Given the description of an element on the screen output the (x, y) to click on. 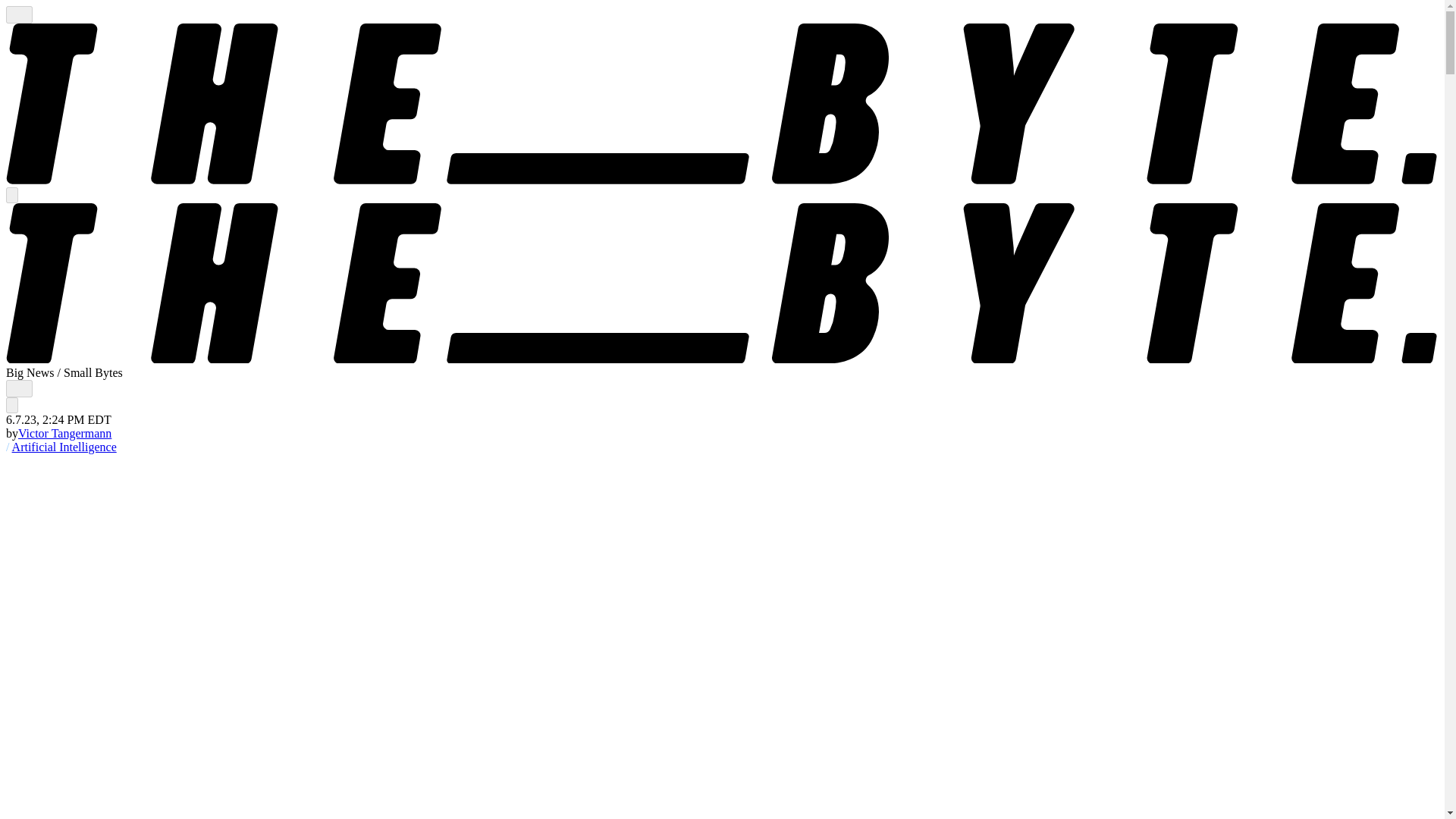
Artificial Intelligence (63, 446)
Victor Tangermann (64, 432)
Artificial Intelligence (63, 446)
Victor Tangermann (64, 432)
